Given the description of an element on the screen output the (x, y) to click on. 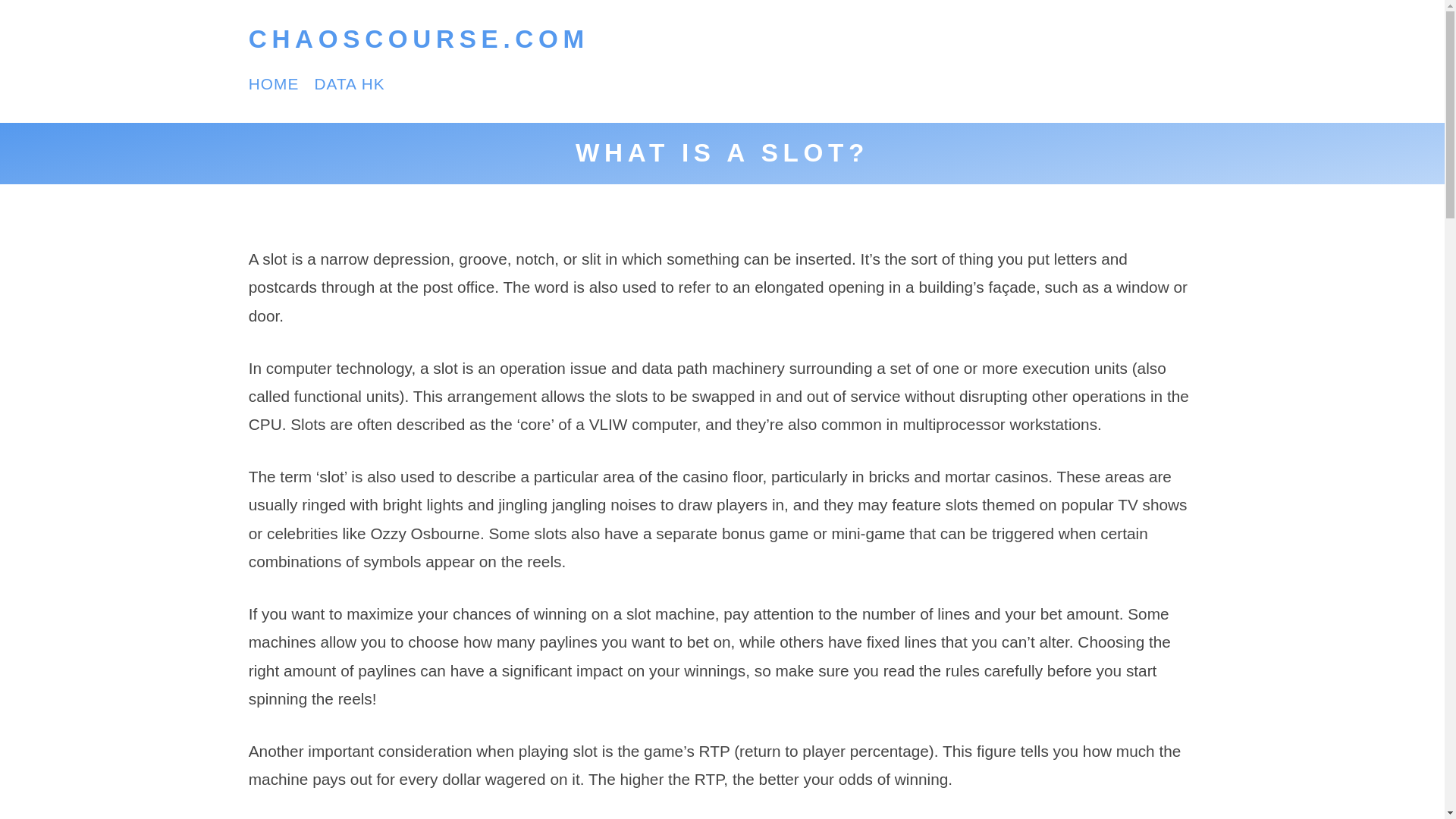
CHAOSCOURSE.COM (418, 39)
DATA HK (349, 83)
HOME (273, 83)
